Given the description of an element on the screen output the (x, y) to click on. 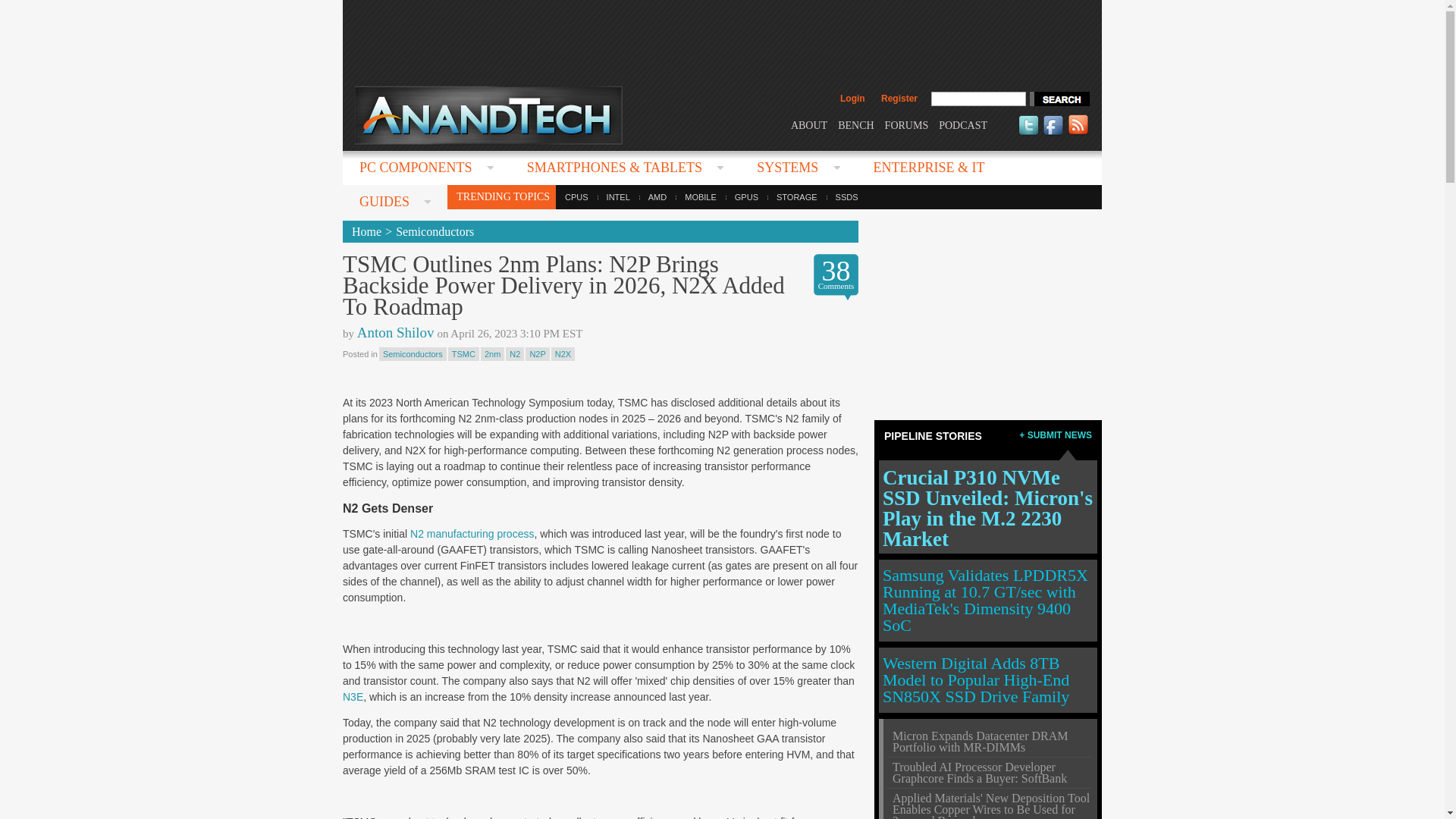
Register (898, 98)
Login (852, 98)
ABOUT (808, 125)
PODCAST (963, 125)
FORUMS (906, 125)
search (1059, 98)
search (1059, 98)
search (1059, 98)
BENCH (855, 125)
